Given the description of an element on the screen output the (x, y) to click on. 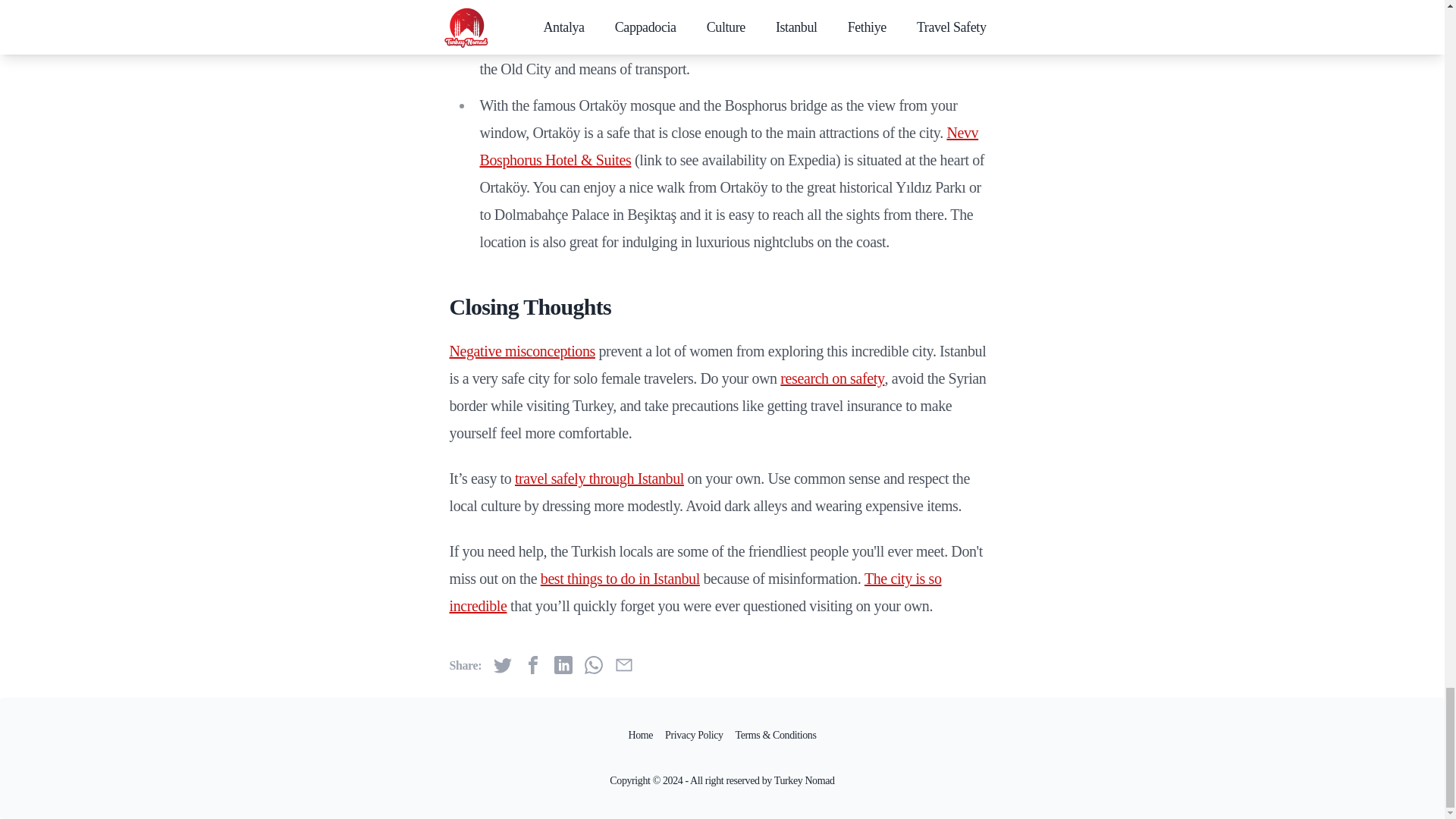
Email Share (623, 665)
Facebook Share (532, 665)
Whatsapp Share (593, 665)
Linkedin Share (563, 665)
Twitter Share (502, 665)
